Given the description of an element on the screen output the (x, y) to click on. 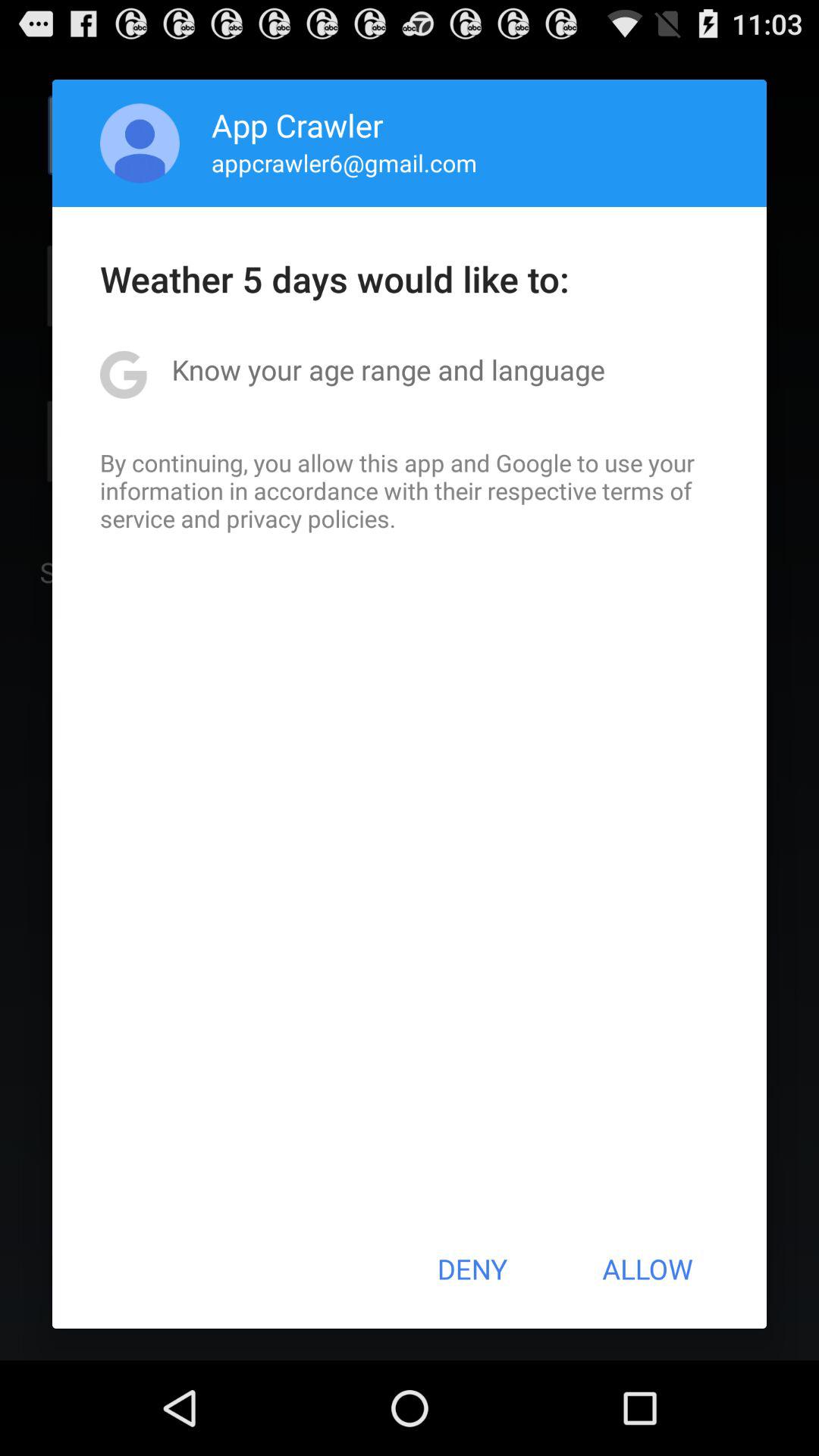
click the icon next to app crawler app (139, 143)
